Given the description of an element on the screen output the (x, y) to click on. 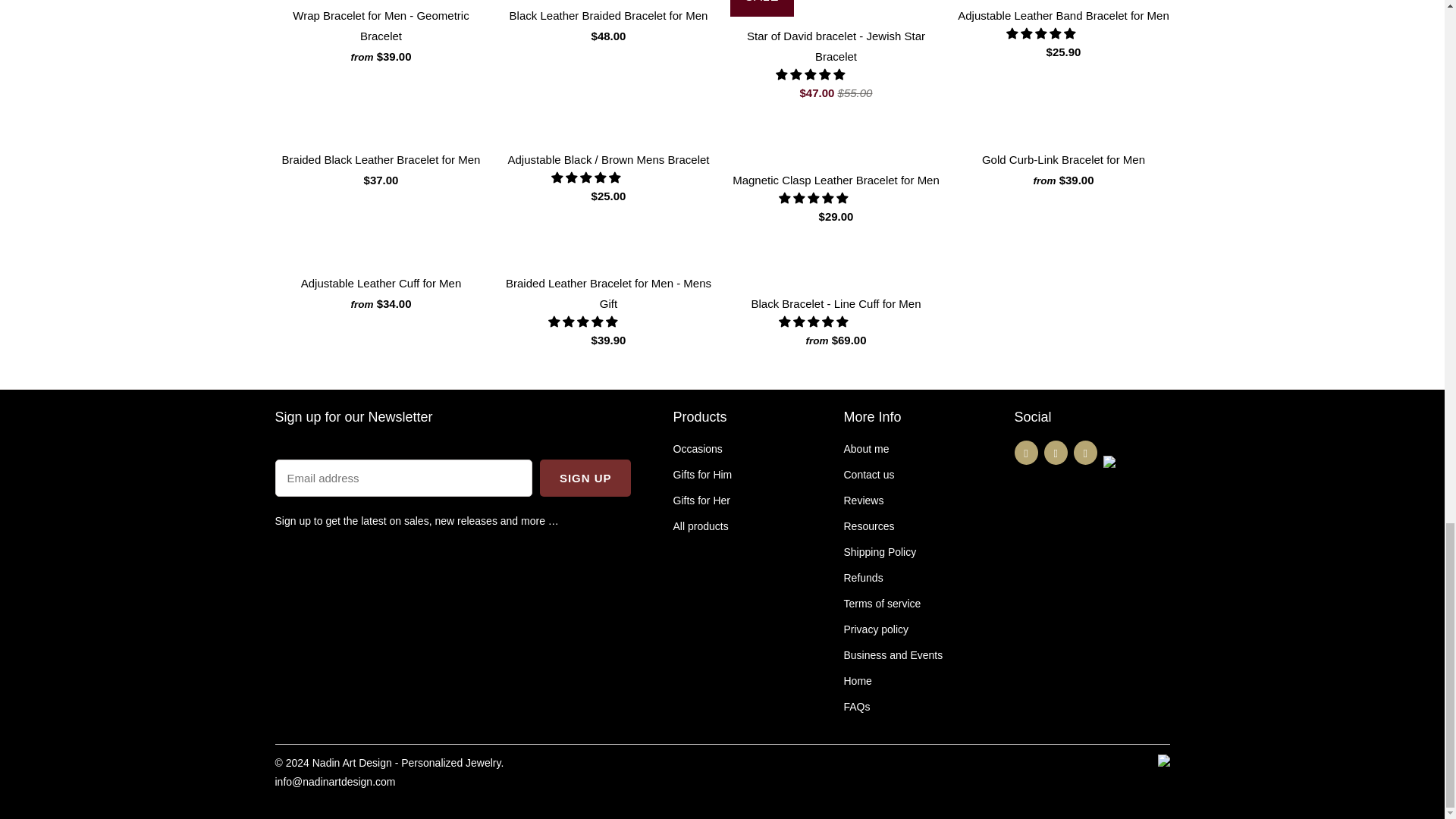
Occasions (697, 449)
Sign Up (585, 477)
All products (700, 526)
Resources (868, 526)
About me (865, 449)
Reviews (863, 500)
Gifts for Him (702, 474)
Shipping Policy (879, 551)
Contact us (868, 474)
Gifts for Her (701, 500)
